Given the description of an element on the screen output the (x, y) to click on. 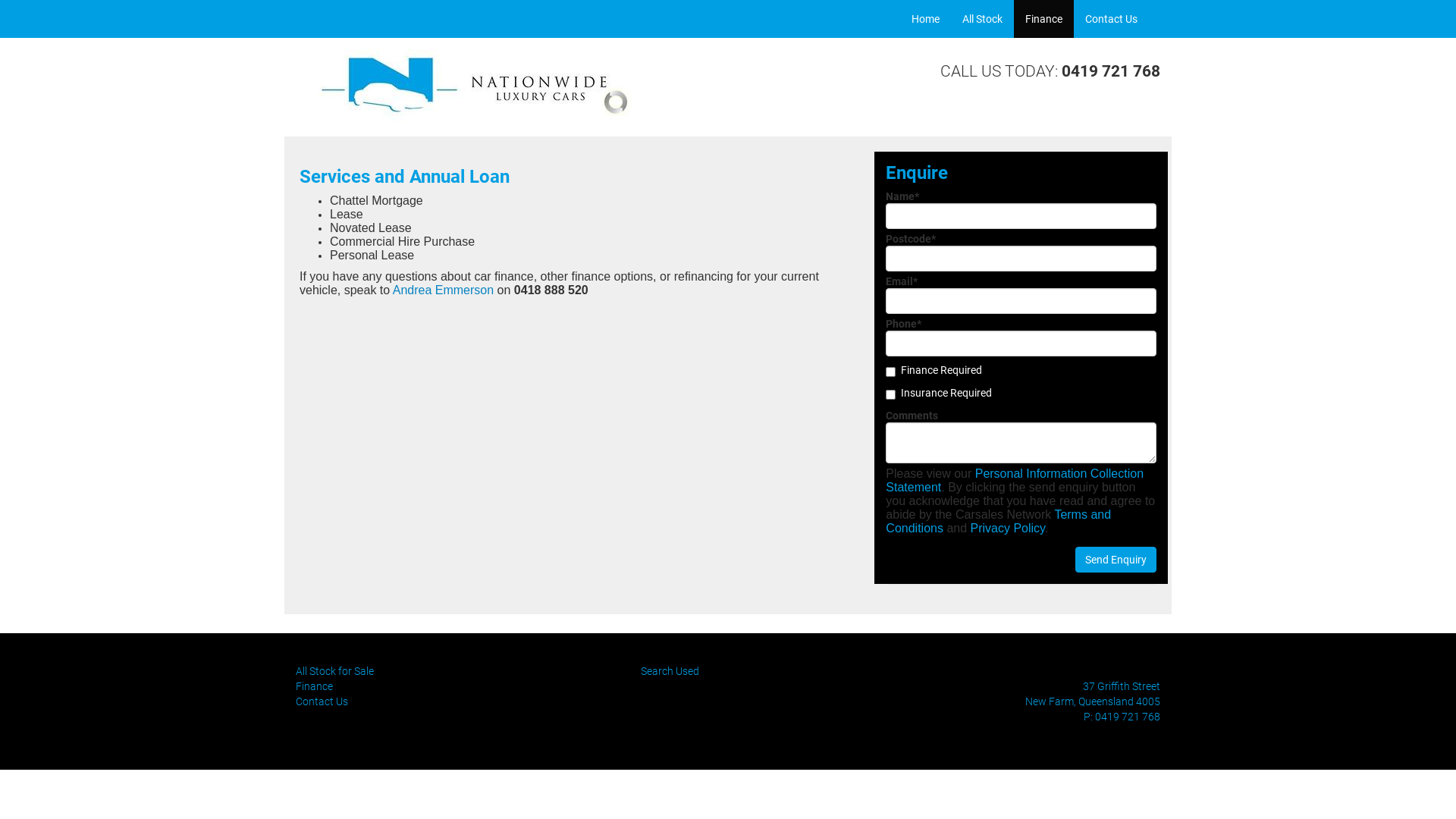
Contact Us Element type: text (1110, 18)
Contact Us Element type: text (321, 701)
Search Used Element type: text (669, 671)
Send Enquiry Element type: text (1115, 559)
Terms and Conditions Element type: text (997, 521)
Home Element type: text (925, 18)
All Stock Element type: text (981, 18)
Finance Element type: text (313, 686)
Andrea Emmerson Element type: text (442, 289)
All Stock for Sale Element type: text (334, 671)
Finance Element type: text (1043, 18)
Personal Information Collection Statement Element type: text (1014, 480)
Privacy Policy Element type: text (1007, 527)
Nationwide Luxury Cars Element type: hover (472, 87)
